Given the description of an element on the screen output the (x, y) to click on. 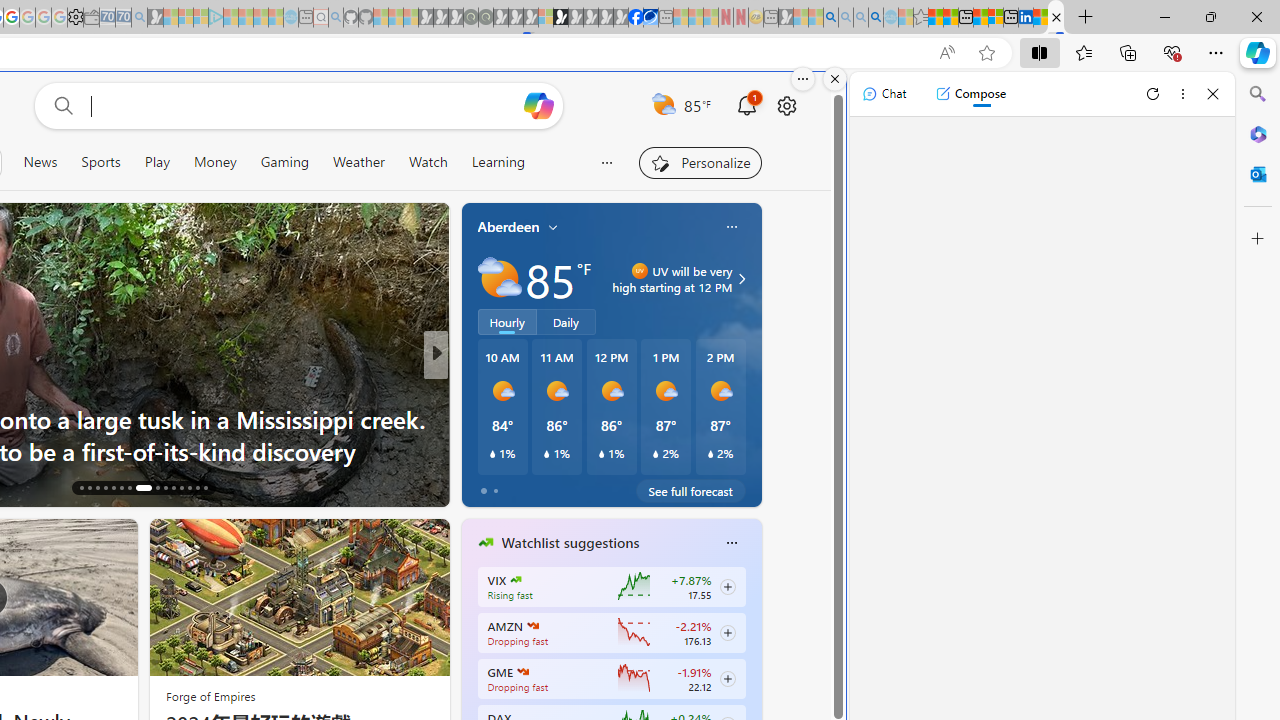
Body Network (477, 418)
previous (471, 670)
Forge of Empires (210, 696)
Learning (498, 162)
github - Search - Sleeping (336, 17)
GAMESTOP CORP. (523, 672)
next (751, 670)
Personalize your feed" (699, 162)
4 Foods You Can Feed Hummingbirds Besides Sugar Water (758, 435)
Sports (100, 161)
Close split screen. (835, 79)
